Given the description of an element on the screen output the (x, y) to click on. 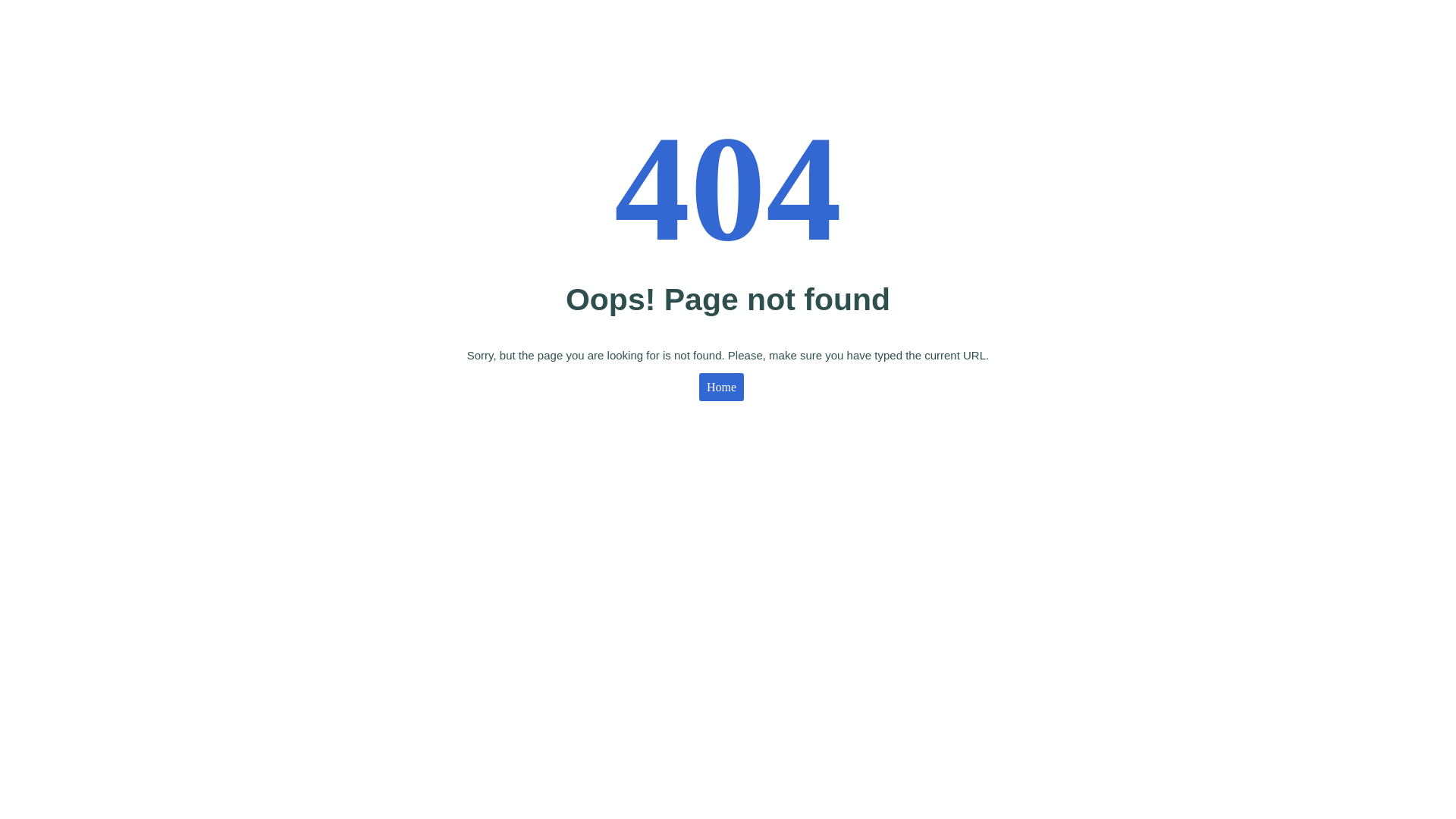
Home Element type: text (721, 387)
